Given the description of an element on the screen output the (x, y) to click on. 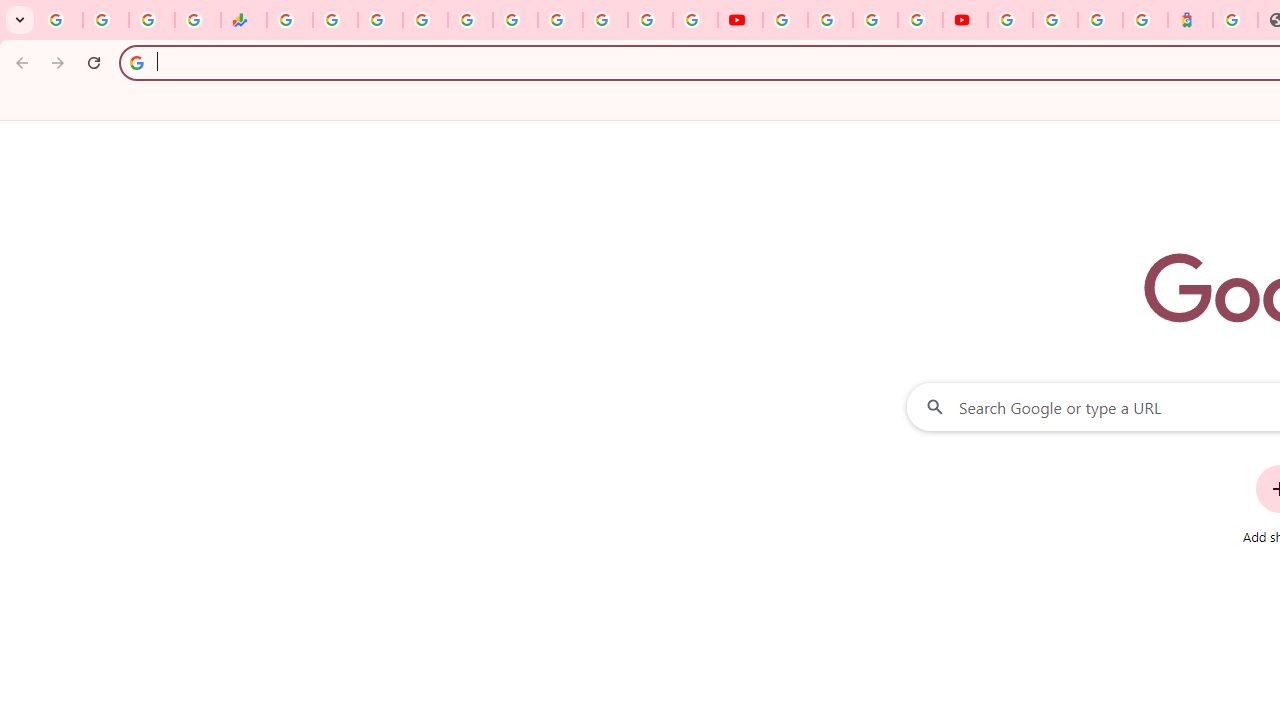
Content Creator Programs & Opportunities - YouTube Creators (965, 20)
Sign in - Google Accounts (1010, 20)
YouTube (740, 20)
Privacy Checkup (695, 20)
Sign in - Google Accounts (425, 20)
YouTube (784, 20)
Atour Hotel - Google hotels (1190, 20)
